Given the description of an element on the screen output the (x, y) to click on. 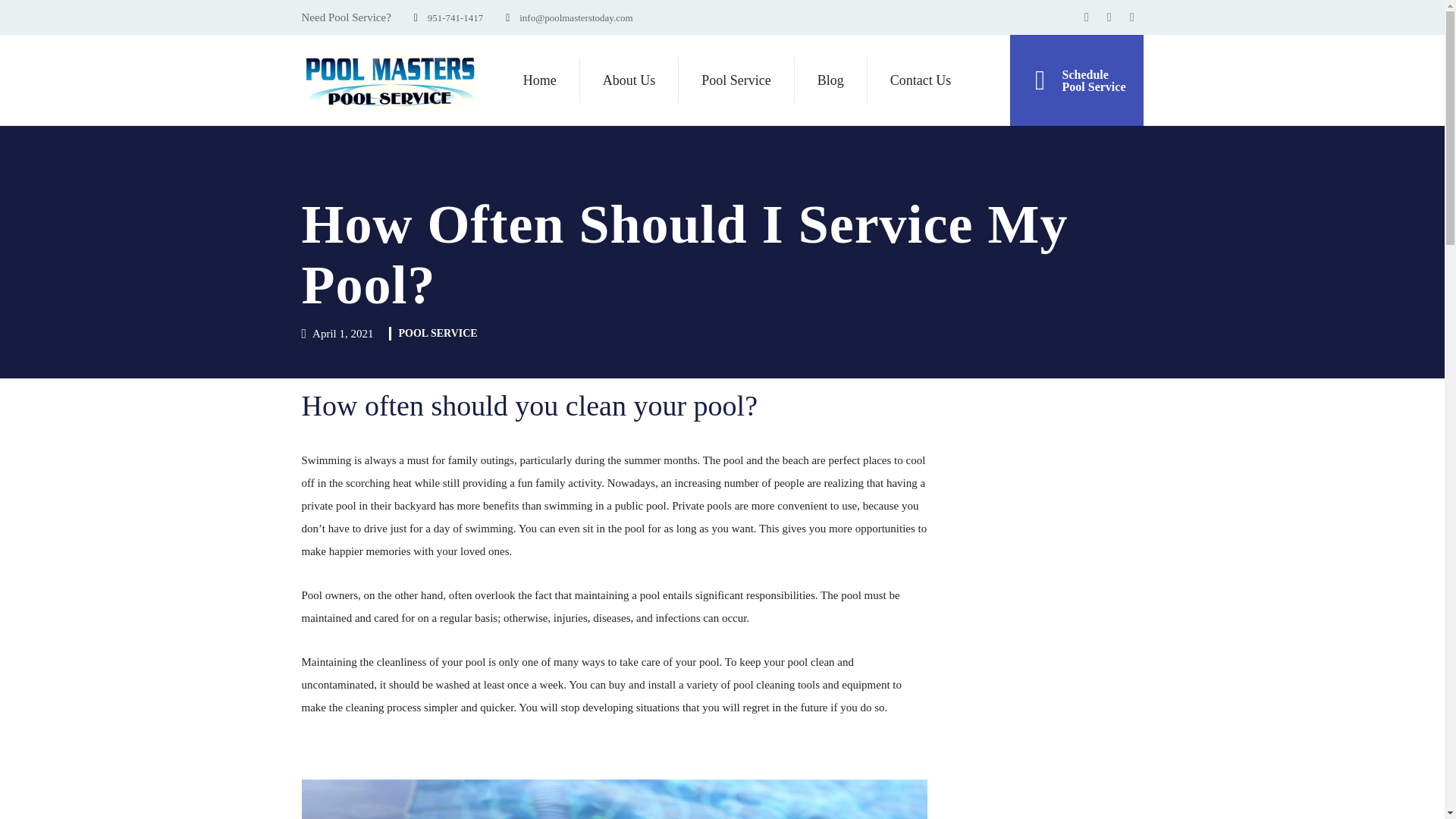
Blog (830, 80)
Contact Us (920, 80)
About Us (628, 80)
Pool Service (1076, 80)
Home (735, 80)
